Given the description of an element on the screen output the (x, y) to click on. 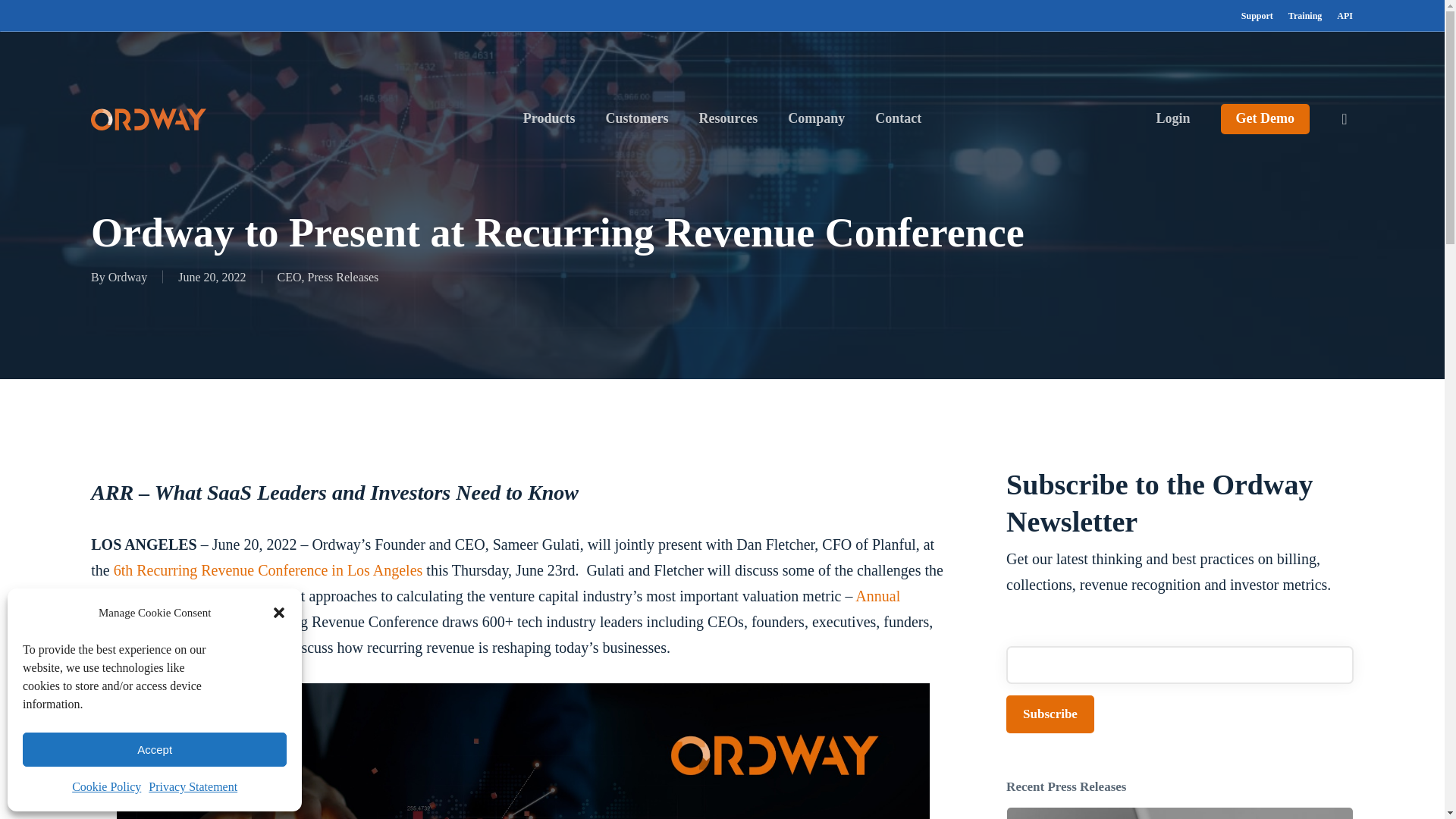
Accept (154, 749)
Customers (636, 117)
Cookie Policy (106, 786)
Resources (728, 117)
Posts by Ordway (127, 276)
Products (548, 117)
Privacy Statement (192, 786)
Training (1305, 15)
API (1344, 15)
Support (1256, 15)
